Given the description of an element on the screen output the (x, y) to click on. 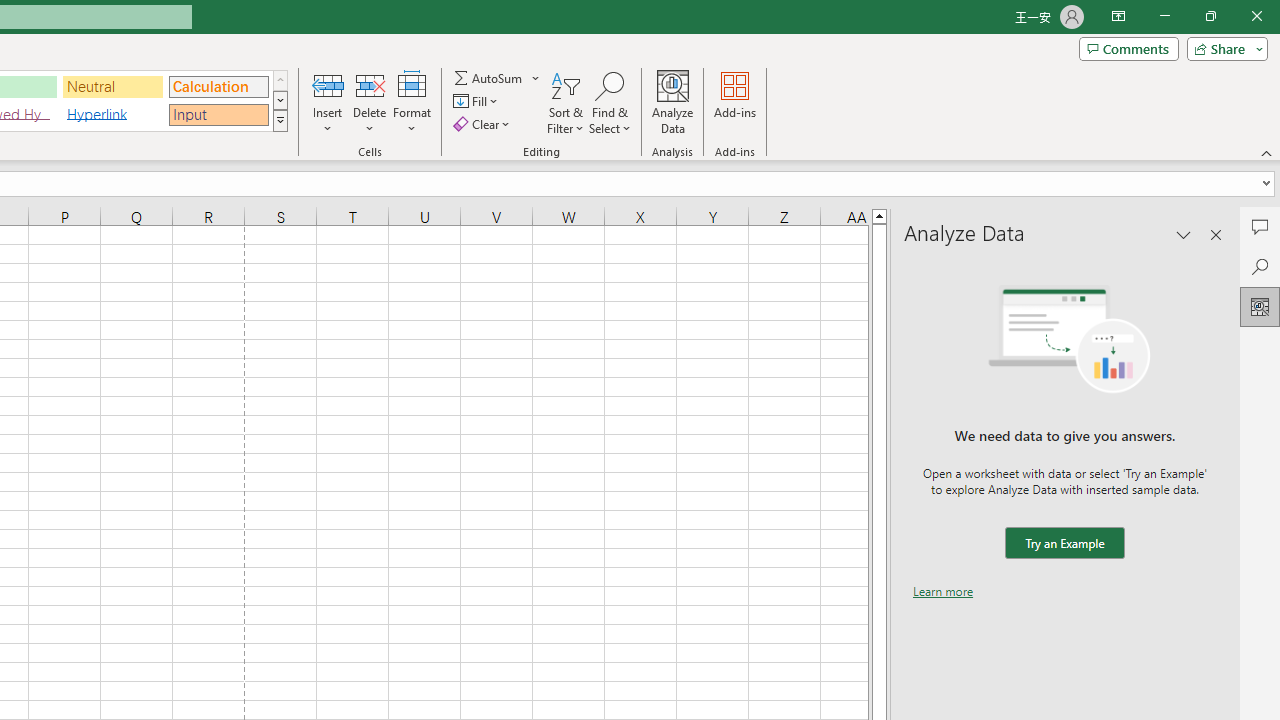
Fill (477, 101)
Delete Cells... (369, 84)
Find & Select (610, 102)
Delete (369, 102)
Sort & Filter (566, 102)
